Given the description of an element on the screen output the (x, y) to click on. 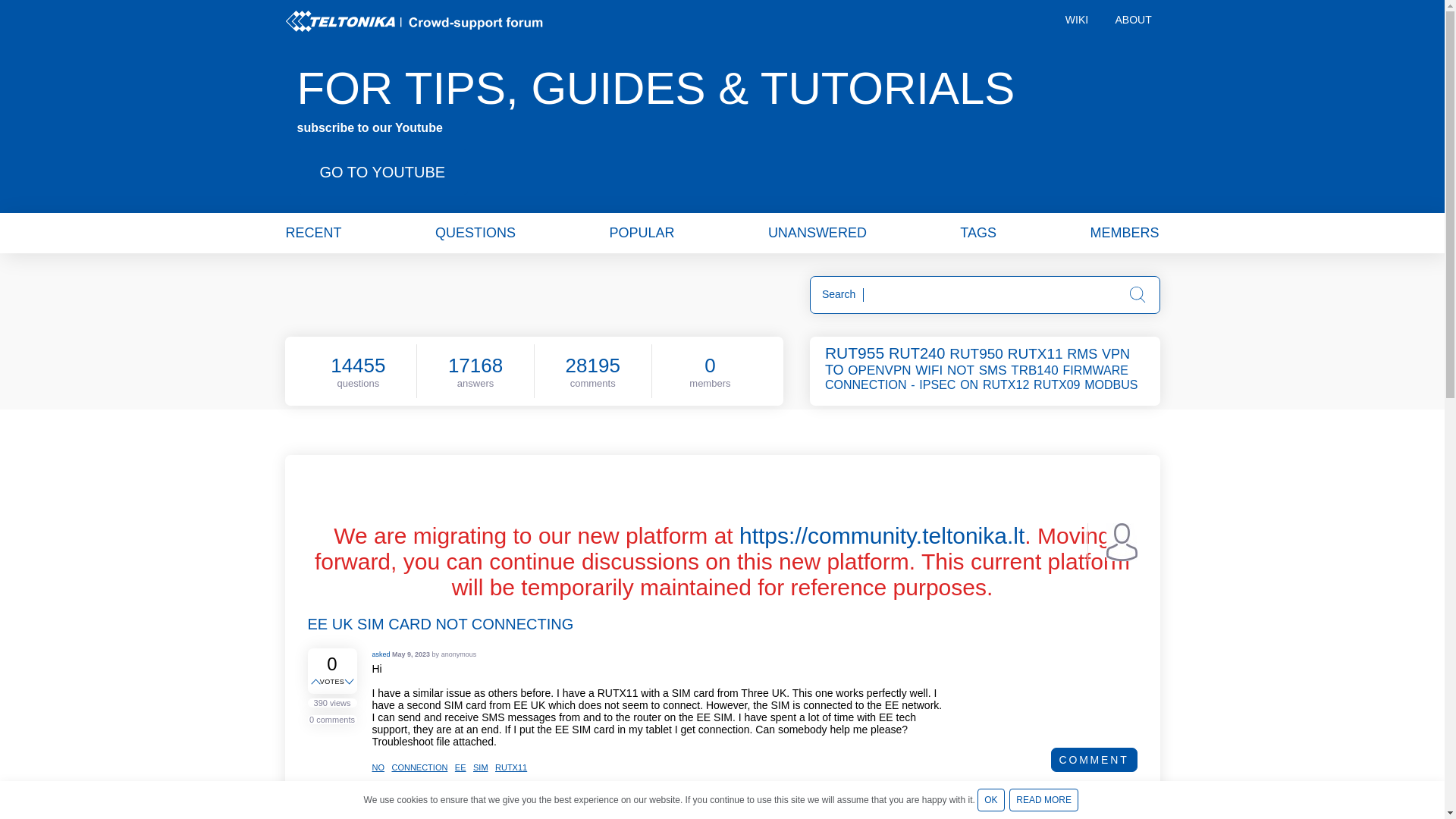
SMS (993, 370)
IPSEC (938, 384)
QUESTIONS (475, 232)
POPULAR (641, 232)
GO TO YOUTUBE (382, 171)
RUT240 (917, 352)
OPENVPN (879, 370)
Search (1137, 294)
TAGS (977, 232)
comment (1094, 759)
